Given the description of an element on the screen output the (x, y) to click on. 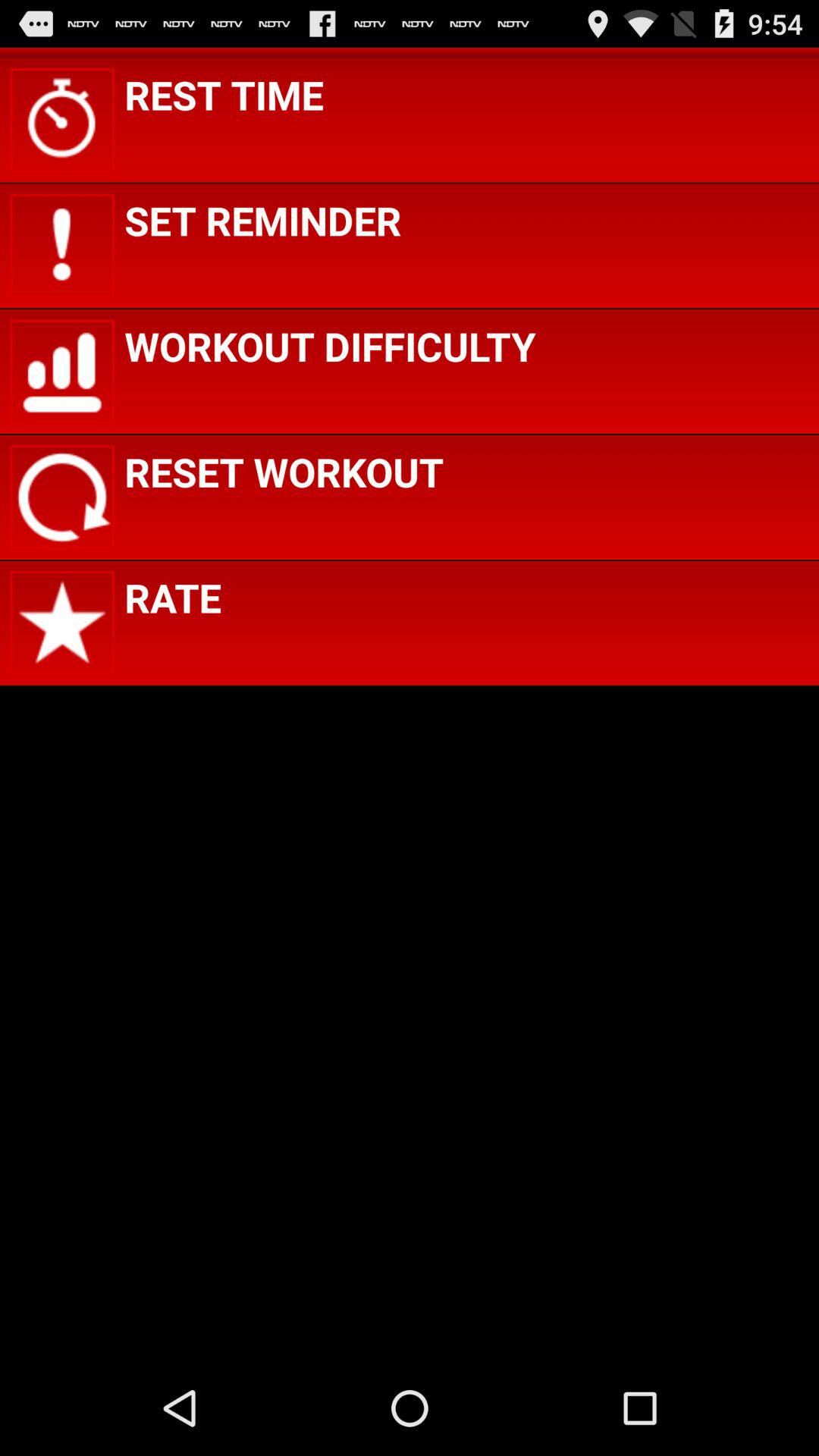
select icon below rest time item (262, 219)
